Given the description of an element on the screen output the (x, y) to click on. 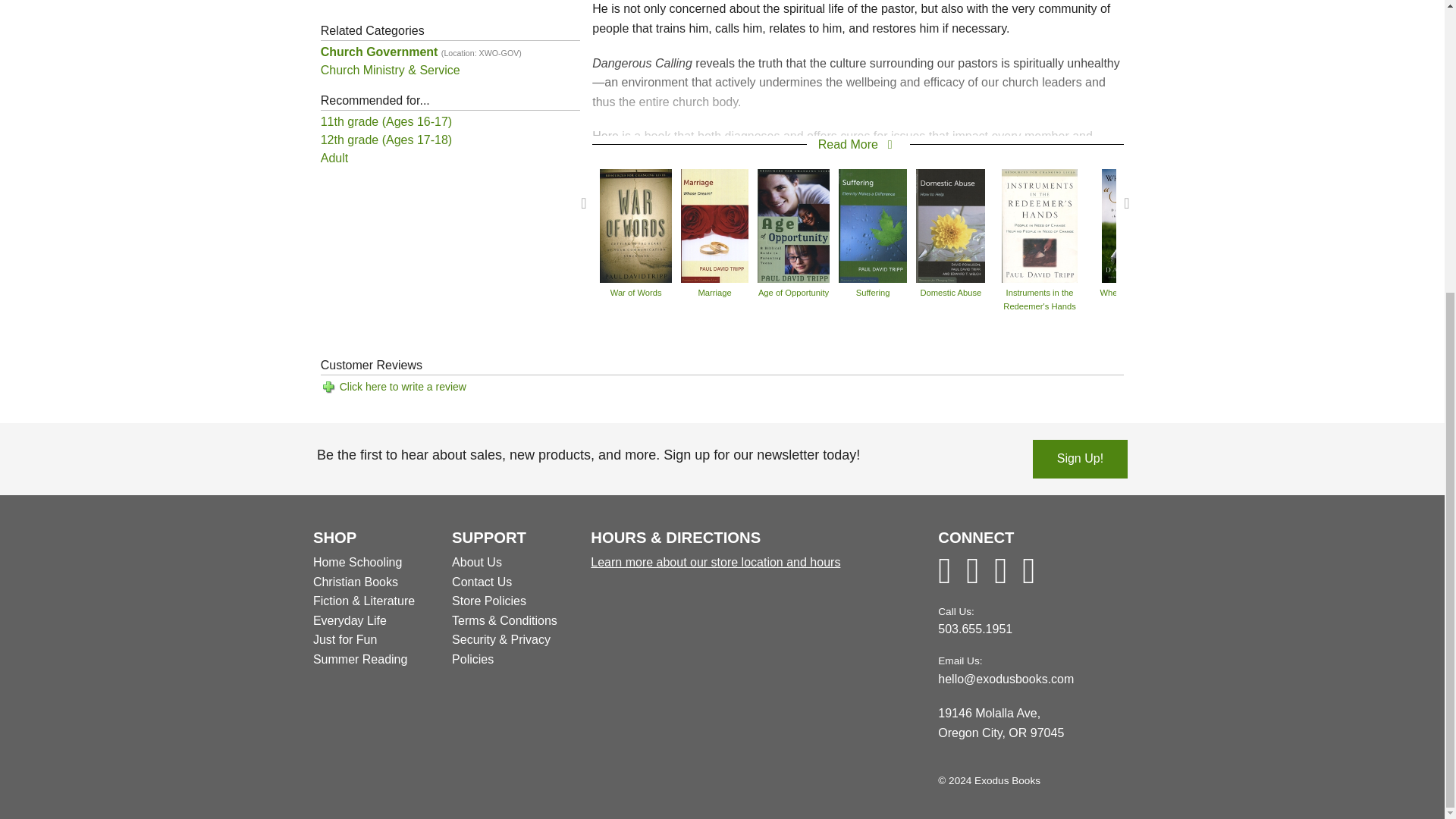
When Sinners Say "I Do" (1138, 224)
Marriage (714, 224)
Age of Opportunity (793, 224)
How People Change (1316, 224)
Suffering (871, 224)
Relationships (1230, 224)
Domestic Abuse (950, 224)
War of Words (635, 224)
Helping Your Adopted Child (1409, 224)
Instruments in the Redeemer's Hands (1039, 224)
